Given the description of an element on the screen output the (x, y) to click on. 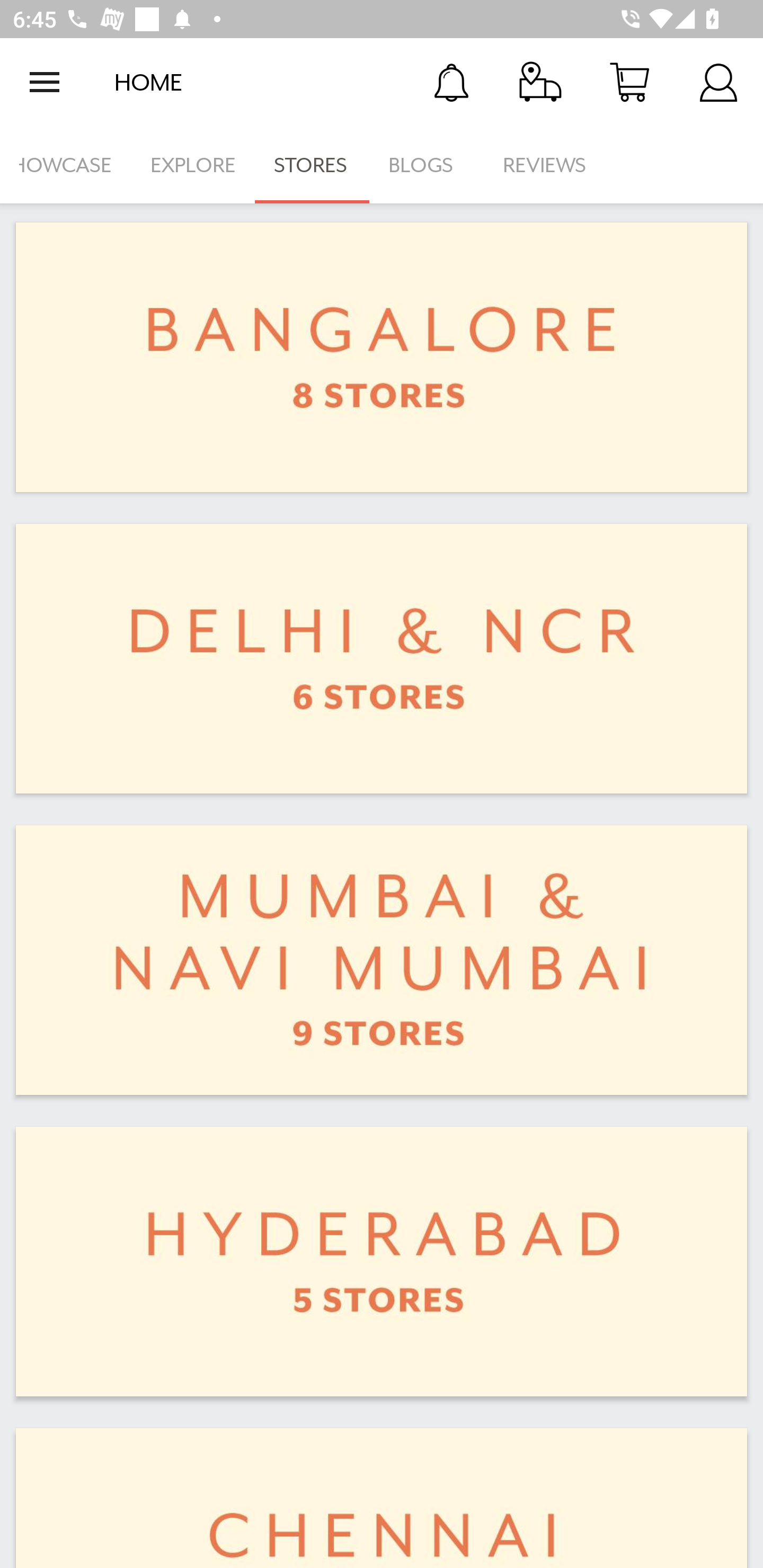
Open navigation drawer (44, 82)
Notification (450, 81)
Track Order (540, 81)
Cart (629, 81)
Account Details (718, 81)
SHOWCASE (65, 165)
EXPLORE (192, 165)
STORES (311, 165)
BLOGS (426, 165)
REVIEWS (544, 165)
